Given the description of an element on the screen output the (x, y) to click on. 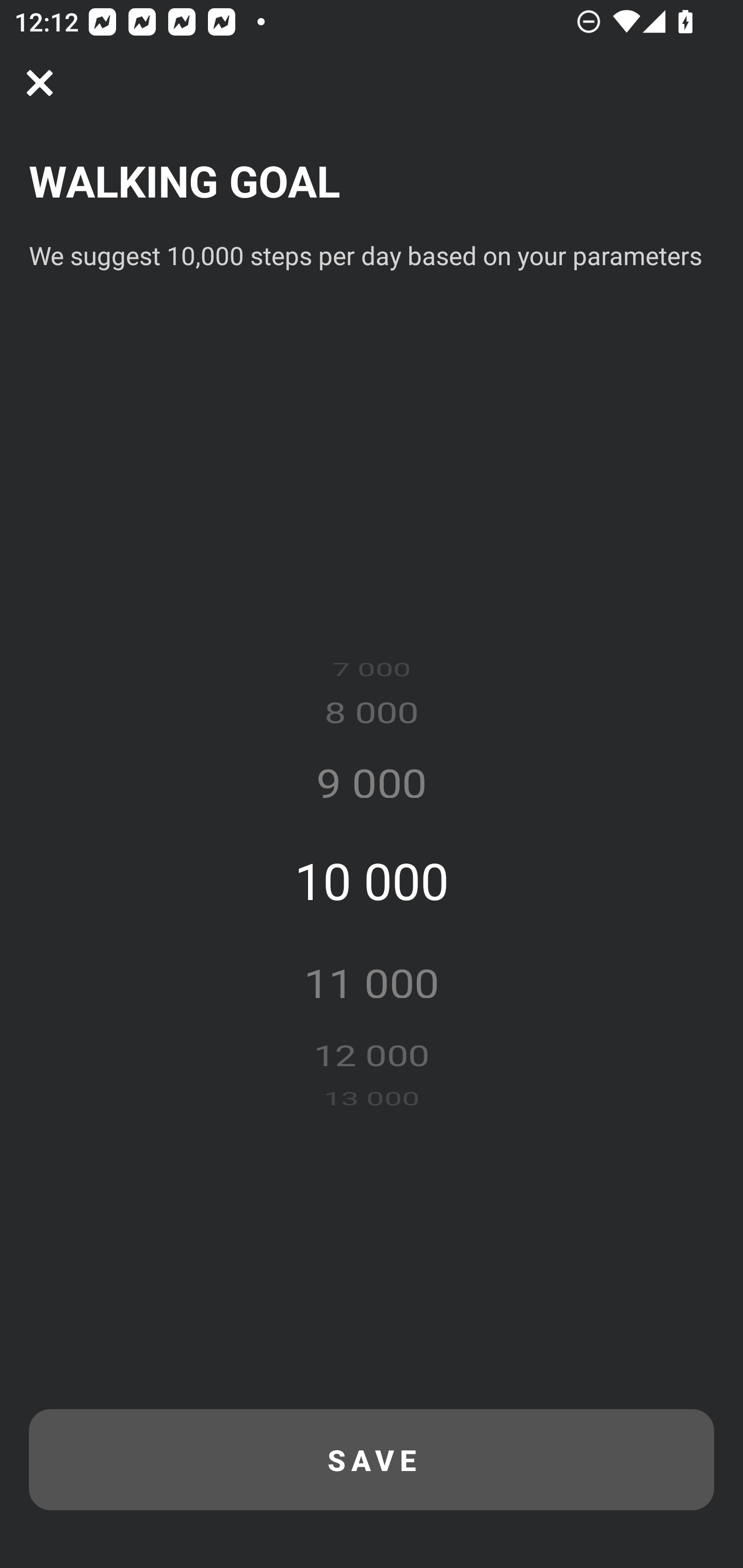
SAVE (371, 1459)
